Given the description of an element on the screen output the (x, y) to click on. 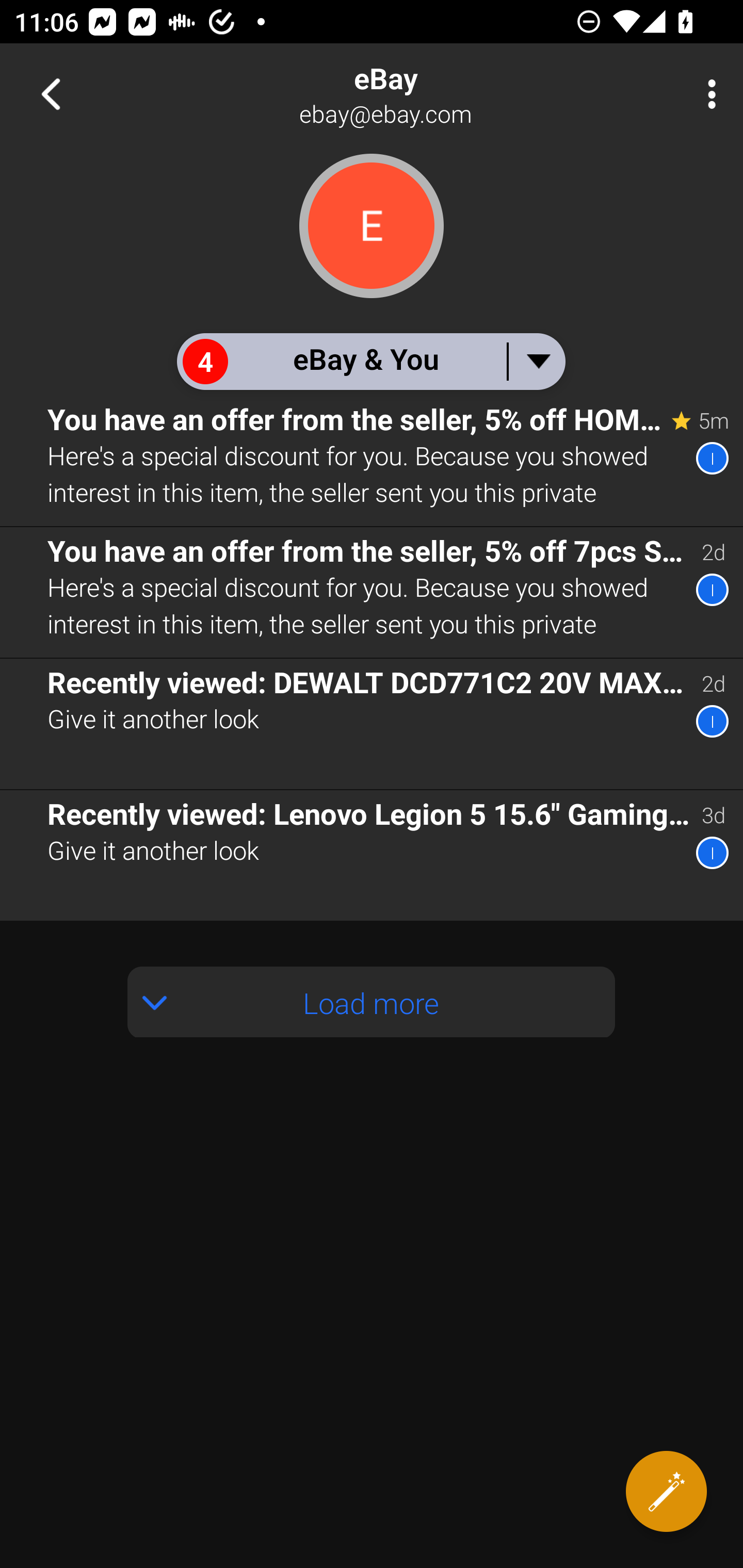
Navigate up (50, 93)
eBay ebay@ebay.com (436, 93)
More Options (706, 93)
4 eBay & You (370, 361)
Load more (371, 1001)
